Given the description of an element on the screen output the (x, y) to click on. 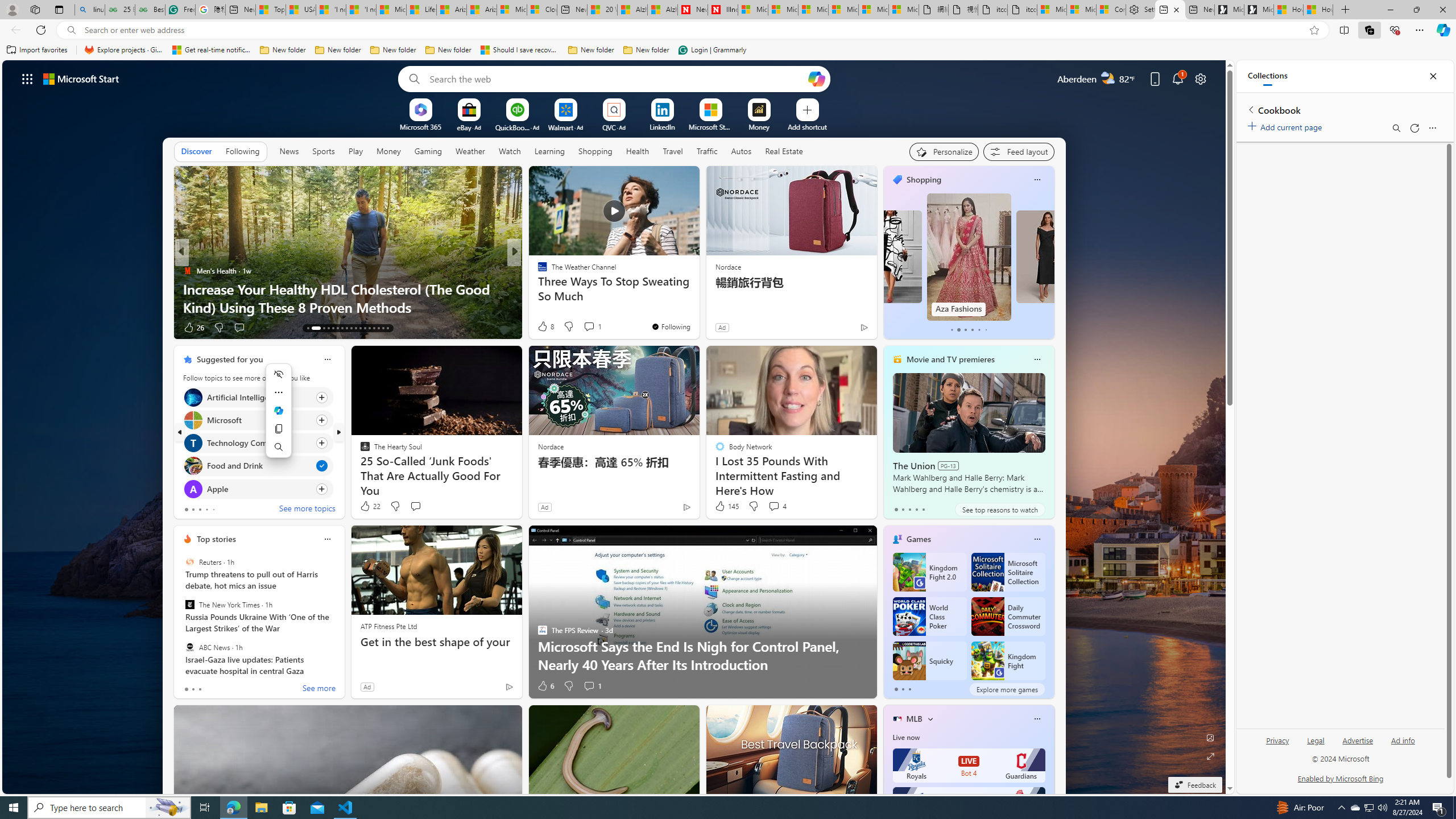
View comments 36 Comment (592, 327)
tab-3 (916, 509)
Wealth of Geeks (537, 270)
